Given the description of an element on the screen output the (x, y) to click on. 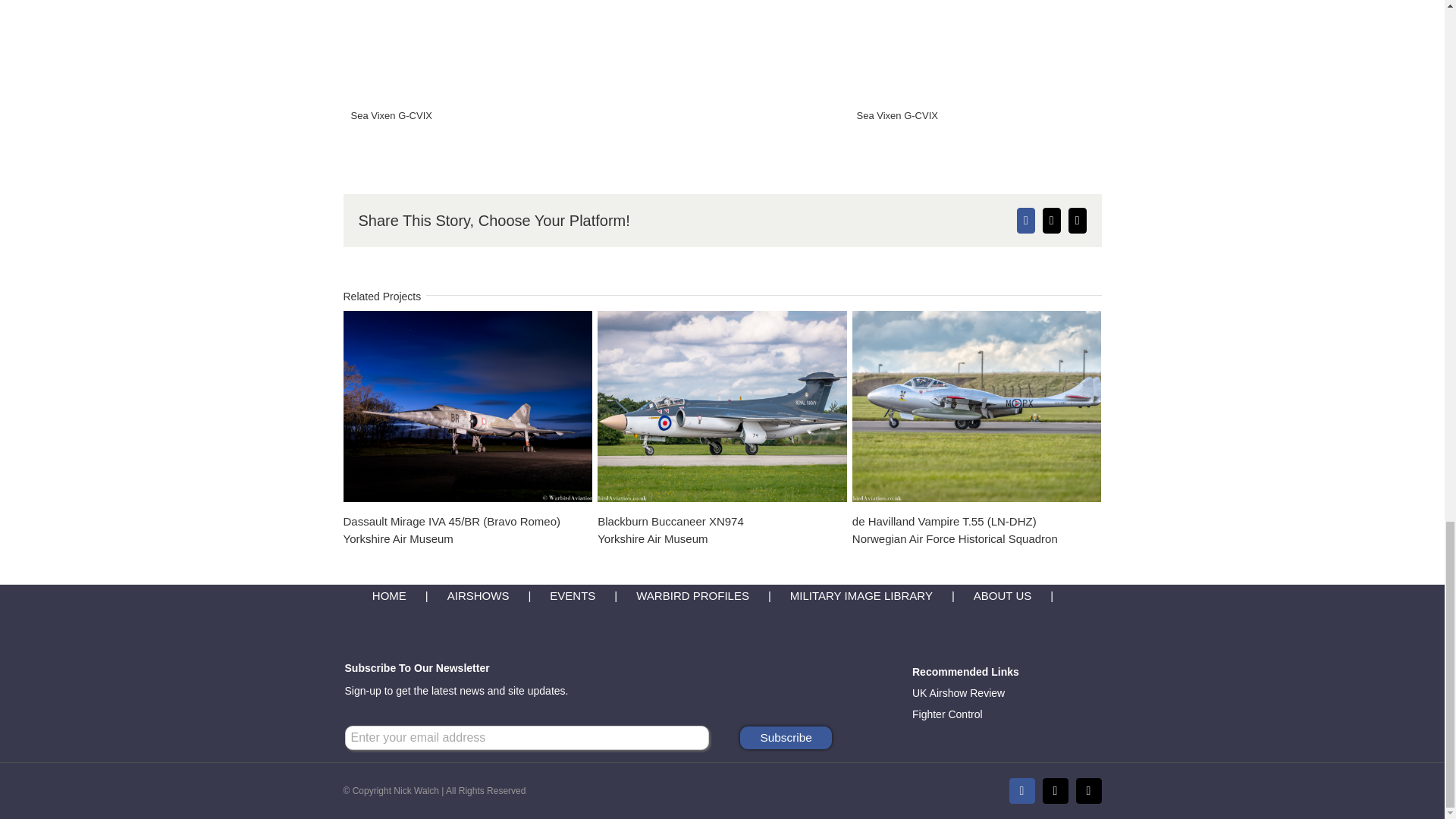
Subscribe (785, 736)
Sea Vixen G-CVIX (670, 529)
